Given the description of an element on the screen output the (x, y) to click on. 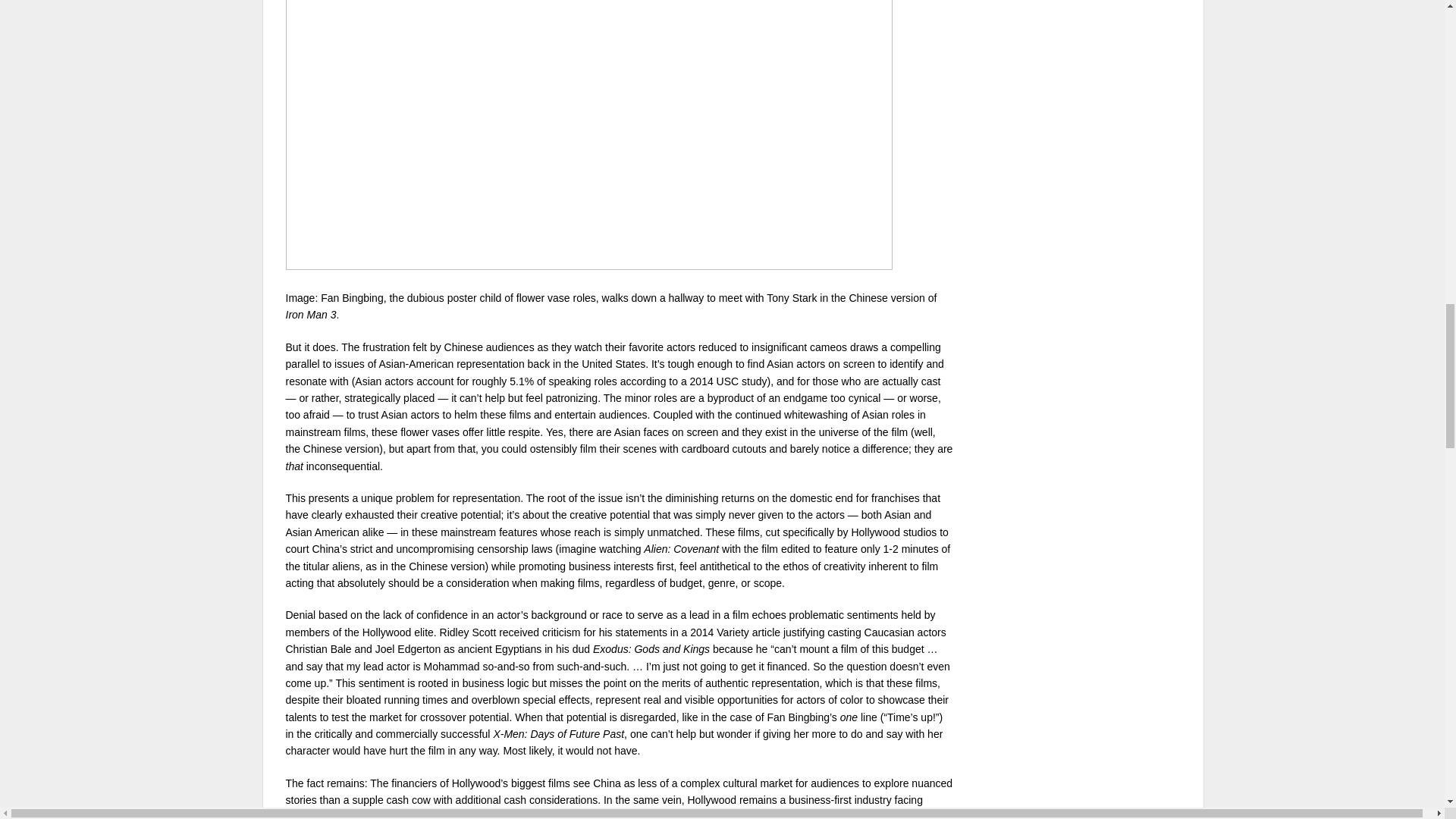
article (766, 632)
2014 USC study (728, 381)
version (466, 566)
